Given the description of an element on the screen output the (x, y) to click on. 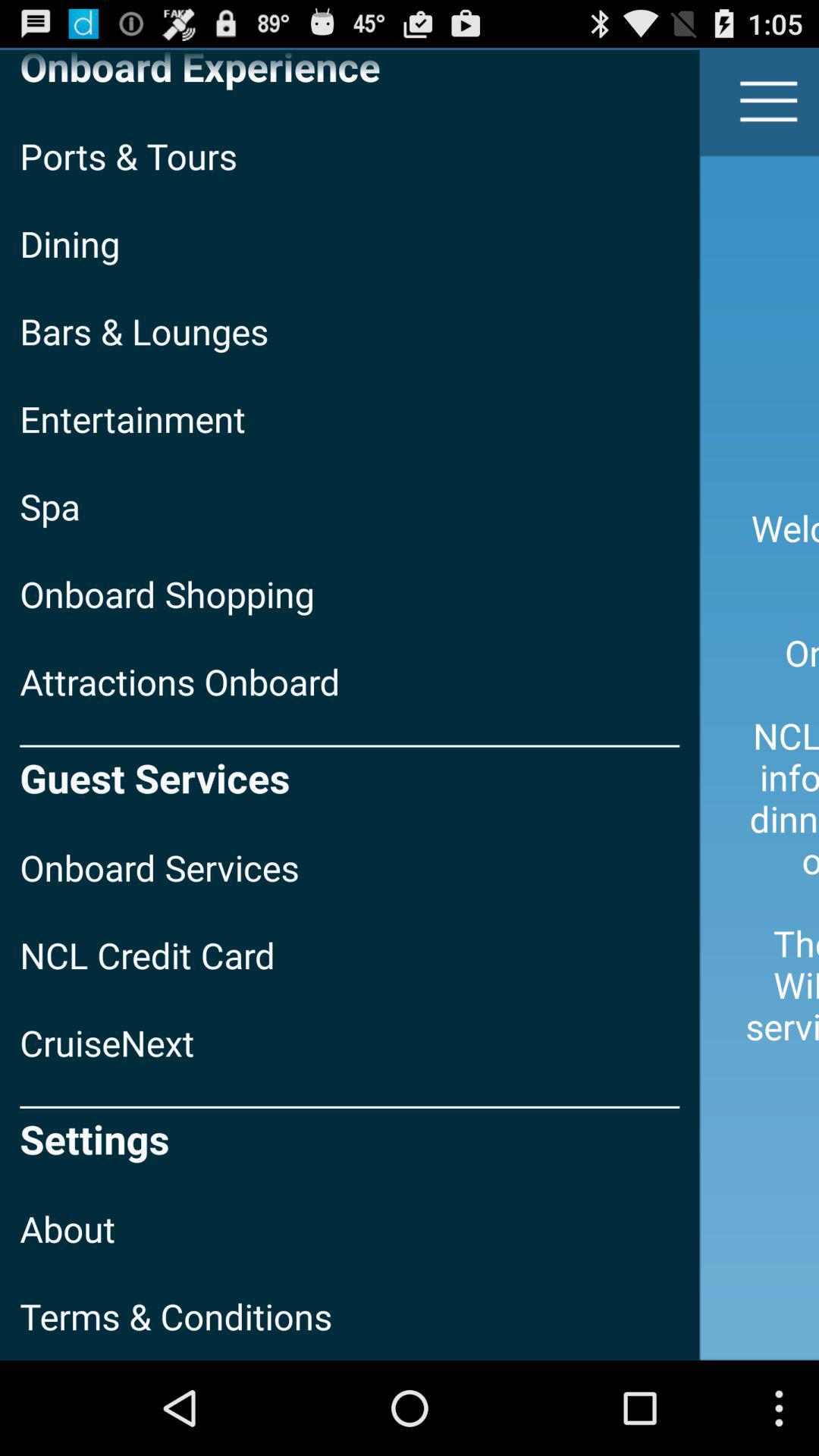
launch the icon at the top right corner (769, 101)
